Given the description of an element on the screen output the (x, y) to click on. 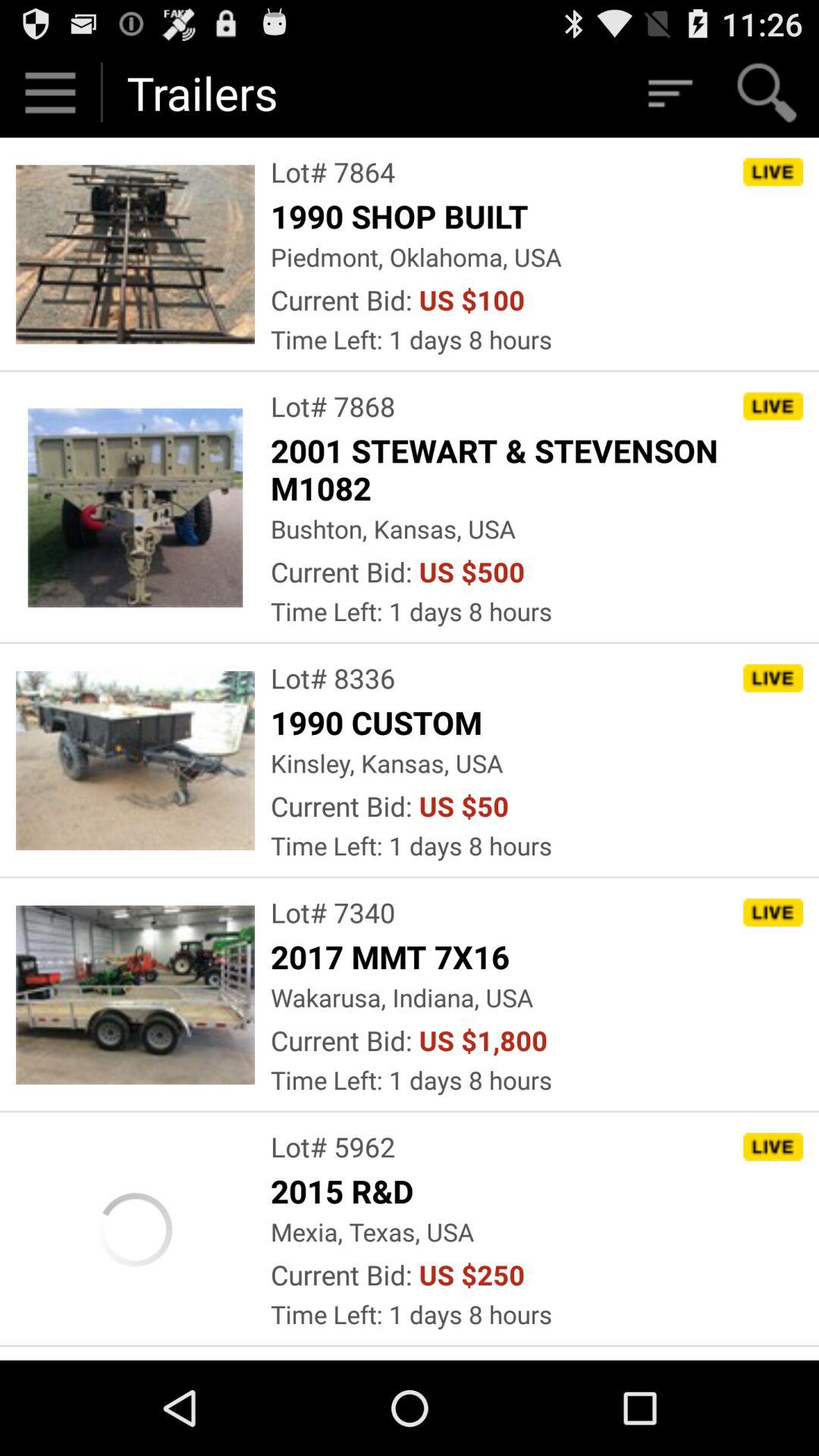
swipe until the 2015 r&d  icon (345, 1190)
